Given the description of an element on the screen output the (x, y) to click on. 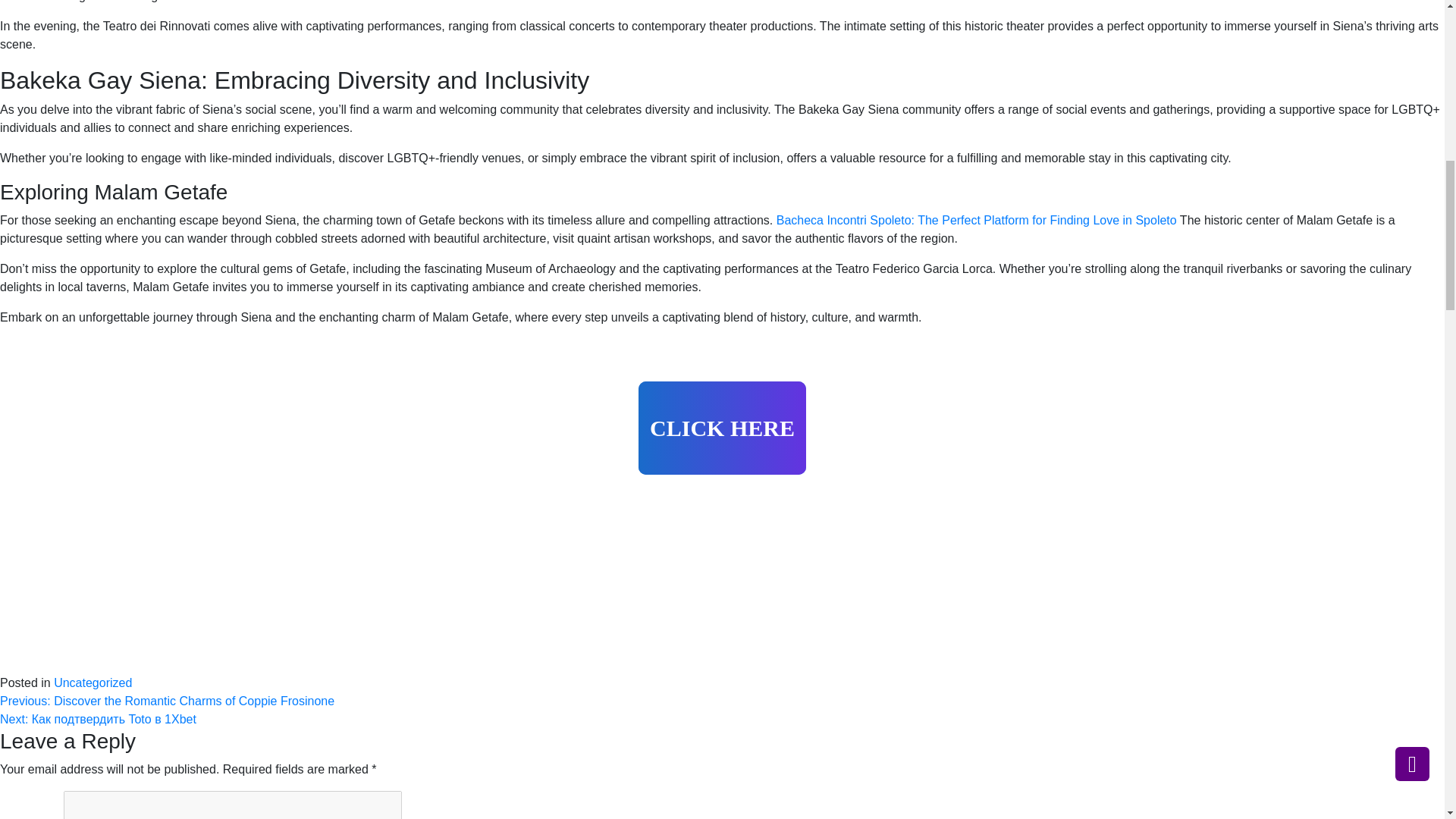
Uncategorized (92, 682)
CLICK HERE (722, 428)
Previous: Discover the Romantic Charms of Coppie Frosinone (167, 700)
